Given the description of an element on the screen output the (x, y) to click on. 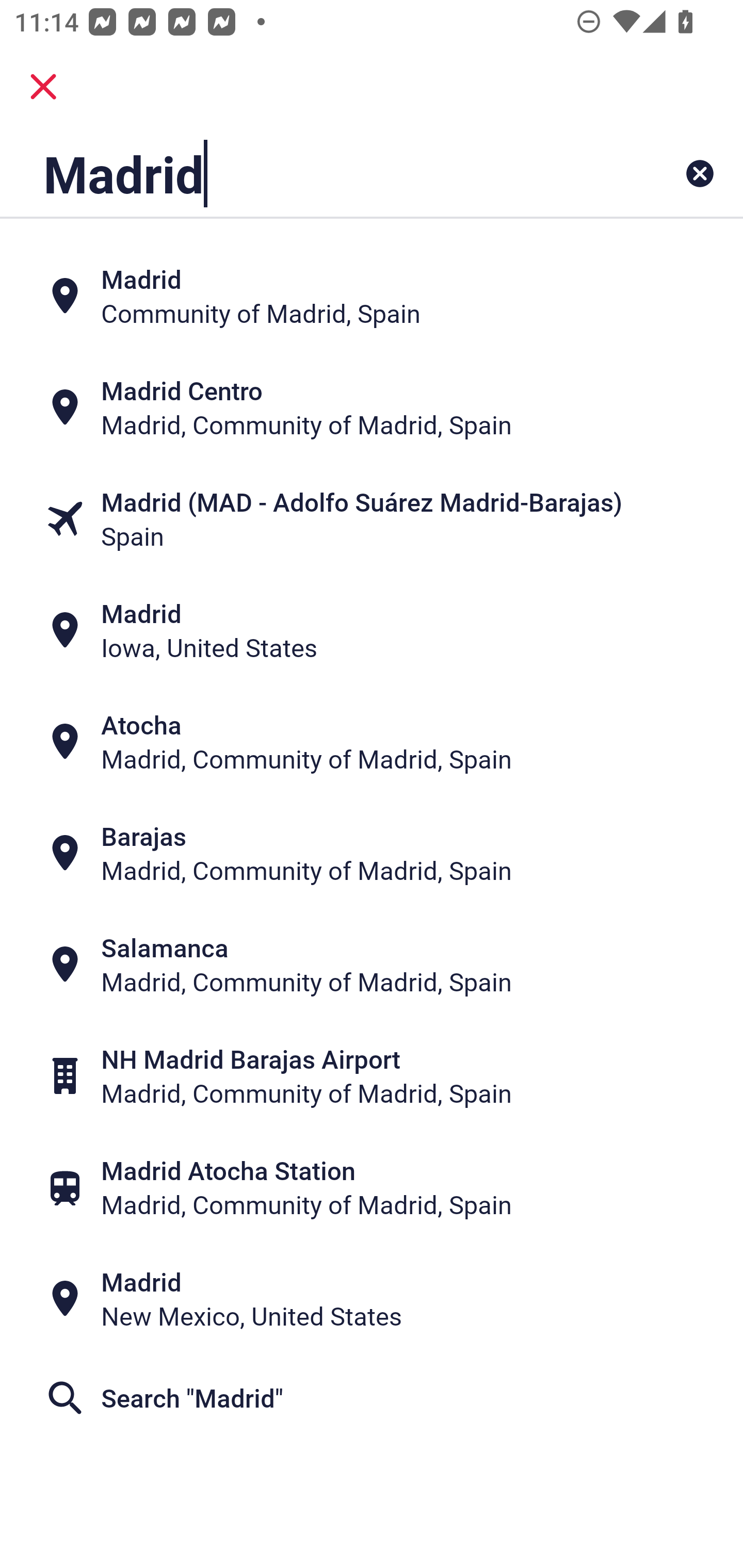
close. (43, 86)
Clear (699, 173)
Madrid (306, 173)
Madrid Community of Madrid, Spain (371, 295)
Madrid Centro Madrid, Community of Madrid, Spain (371, 406)
Madrid (MAD - Adolfo Suárez Madrid-Barajas) Spain (371, 517)
Madrid Iowa, United States (371, 629)
Atocha Madrid, Community of Madrid, Spain (371, 742)
Barajas Madrid, Community of Madrid, Spain (371, 853)
Salamanca Madrid, Community of Madrid, Spain (371, 964)
Madrid New Mexico, United States (371, 1298)
Search "Madrid" (371, 1397)
